Given the description of an element on the screen output the (x, y) to click on. 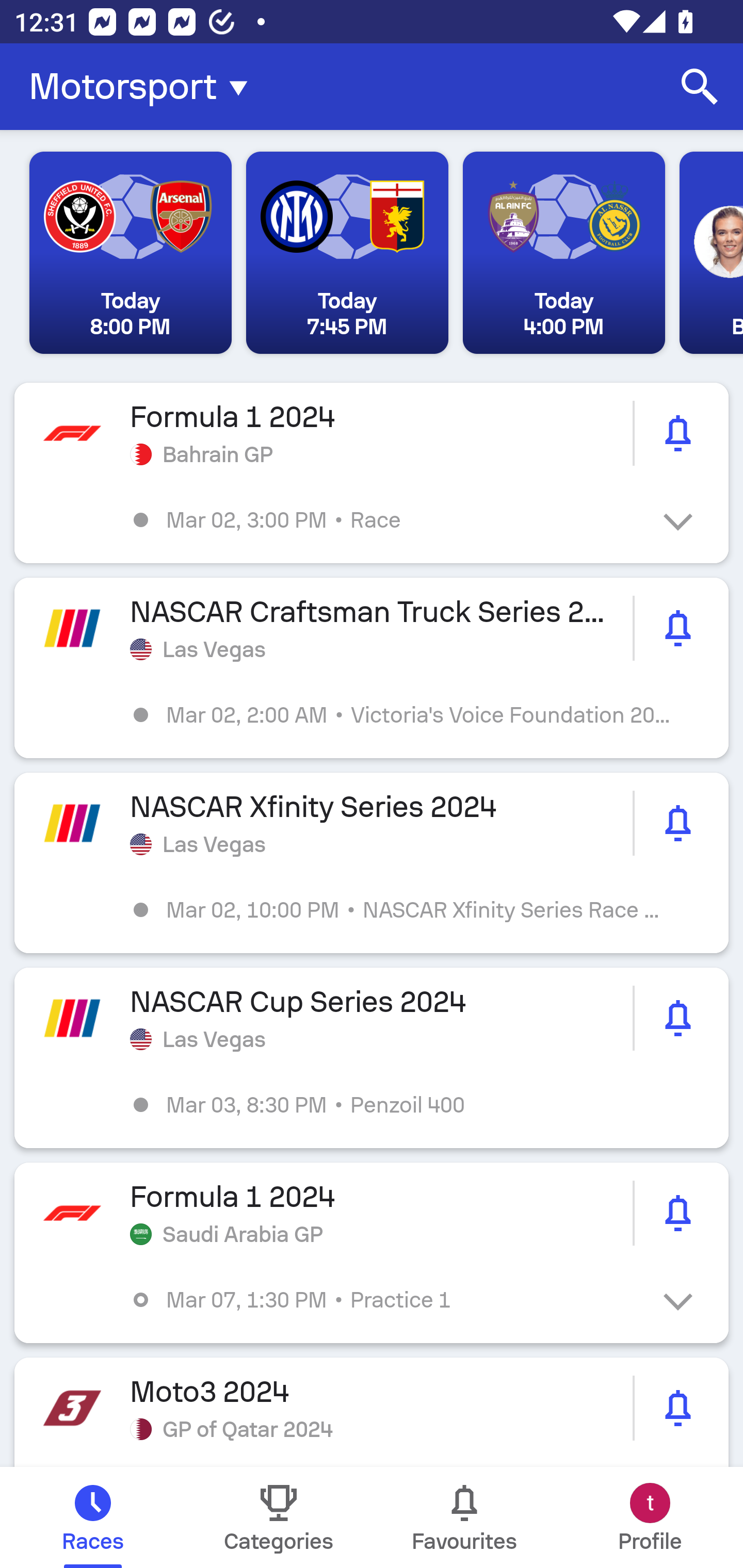
Motorsport (144, 86)
Search (699, 86)
Today
8:00 PM (130, 253)
Today
7:45 PM (346, 253)
Today
4:00 PM (563, 253)
Mar 02, 3:00 PM • Race (385, 519)
Mar 07, 1:30 PM • Practice 1 (385, 1299)
Moto3 2024 GP of Qatar 2024 picture (371, 1412)
Categories (278, 1517)
Favourites (464, 1517)
Profile (650, 1517)
